Given the description of an element on the screen output the (x, y) to click on. 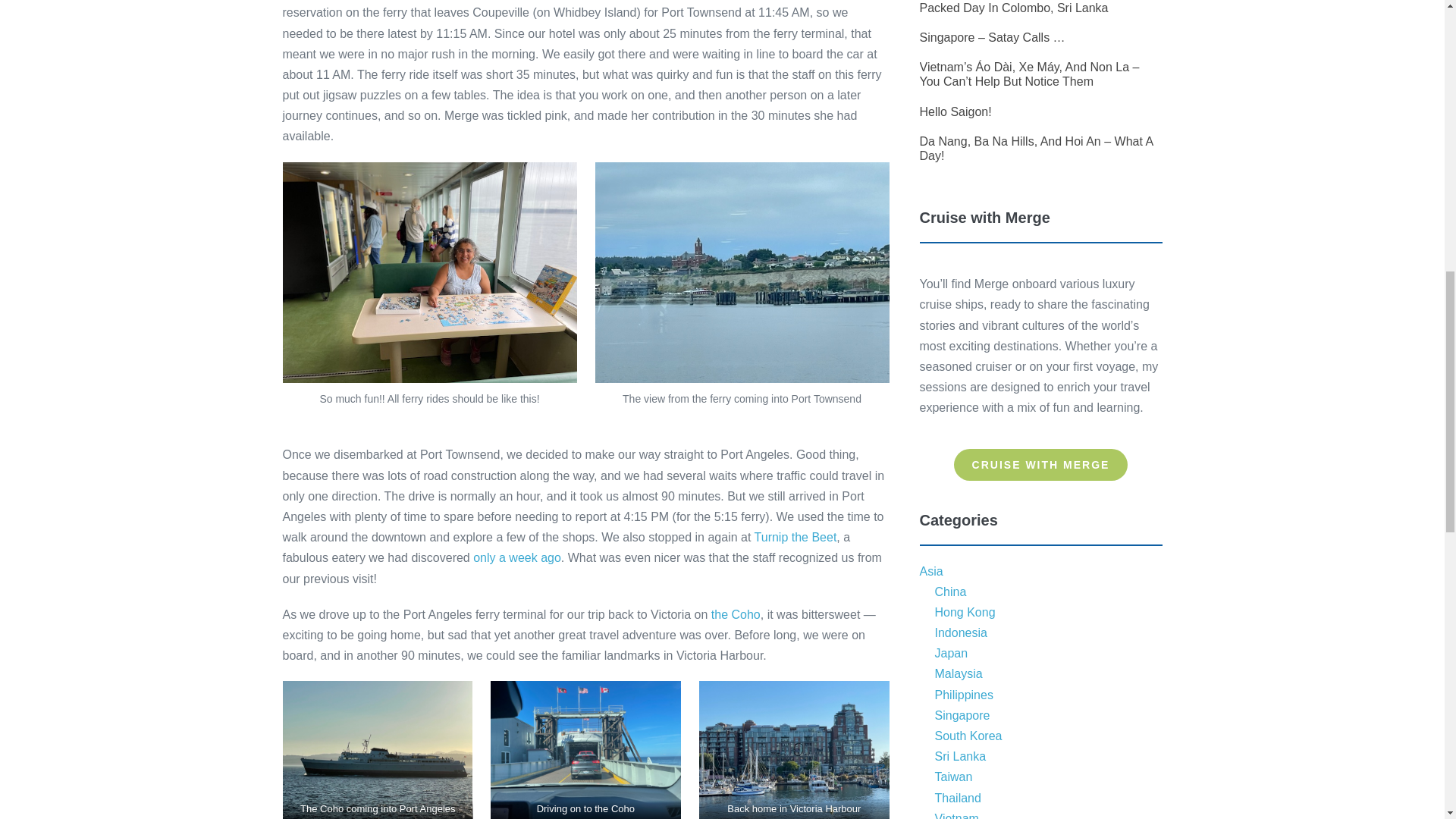
Turnip the Beet (795, 536)
Indonesia (960, 632)
Hello Saigon! (954, 111)
Singapore (962, 715)
the Coho (735, 614)
Vietnam (956, 815)
only a week ago (516, 557)
Sri Lanka (959, 756)
